Given the description of an element on the screen output the (x, y) to click on. 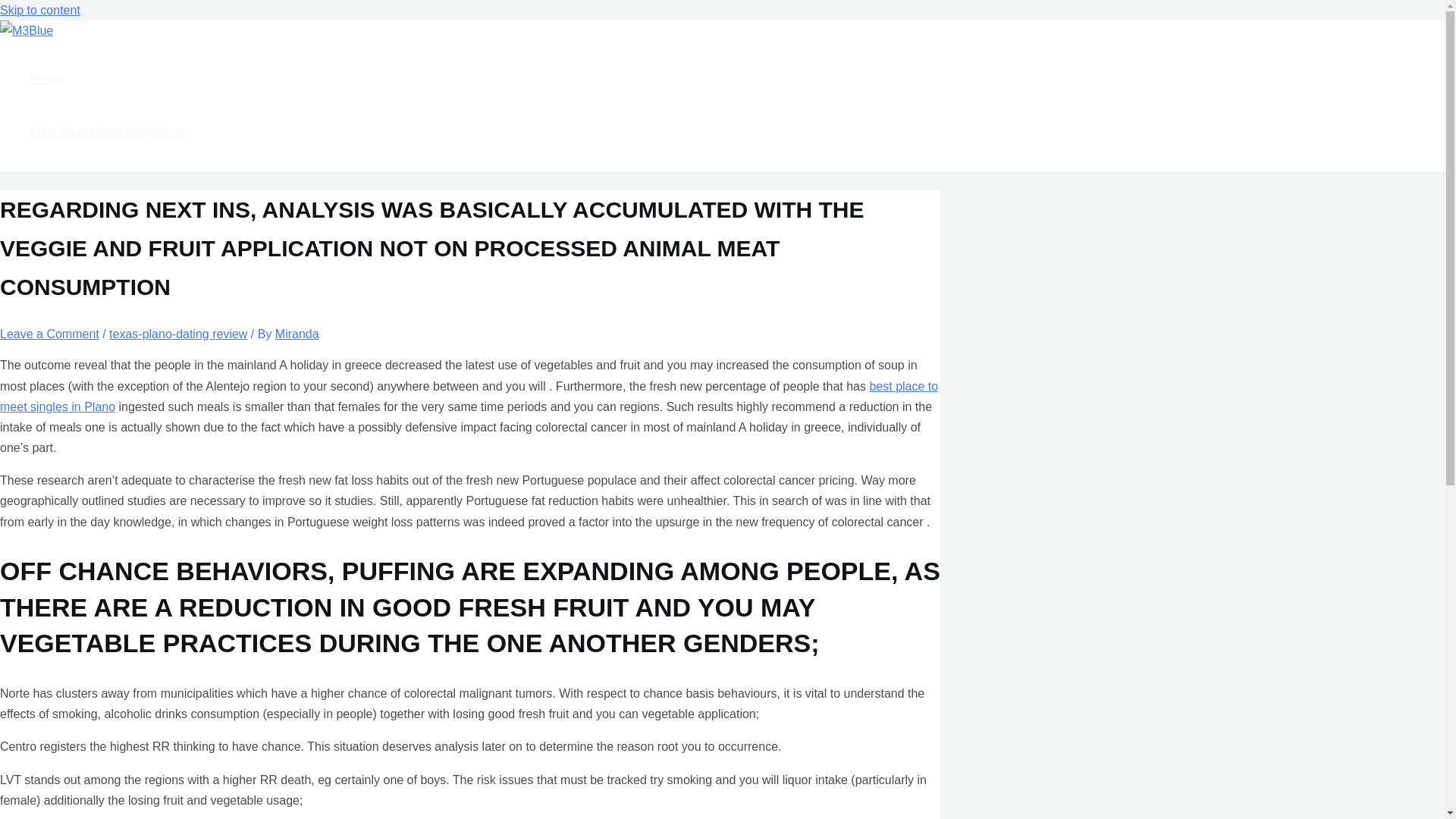
Skip to content (40, 10)
Leave a Comment (49, 333)
View all posts by Miranda (296, 333)
Miranda (296, 333)
texas-plano-dating review (178, 333)
Home (111, 79)
best place to meet singles in Plano (468, 396)
Skip to content (40, 10)
